Given the description of an element on the screen output the (x, y) to click on. 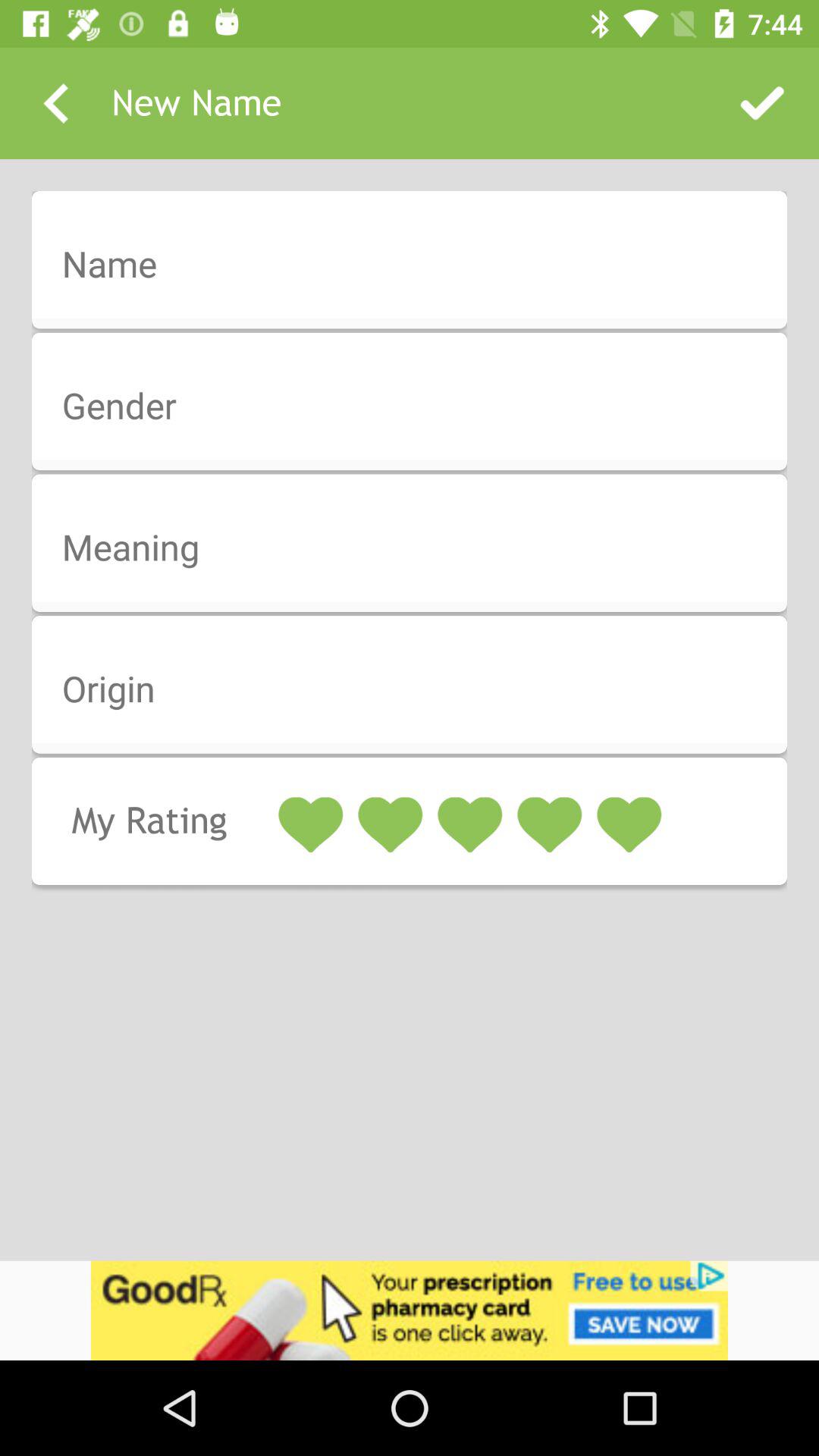
enter your name (419, 265)
